Given the description of an element on the screen output the (x, y) to click on. 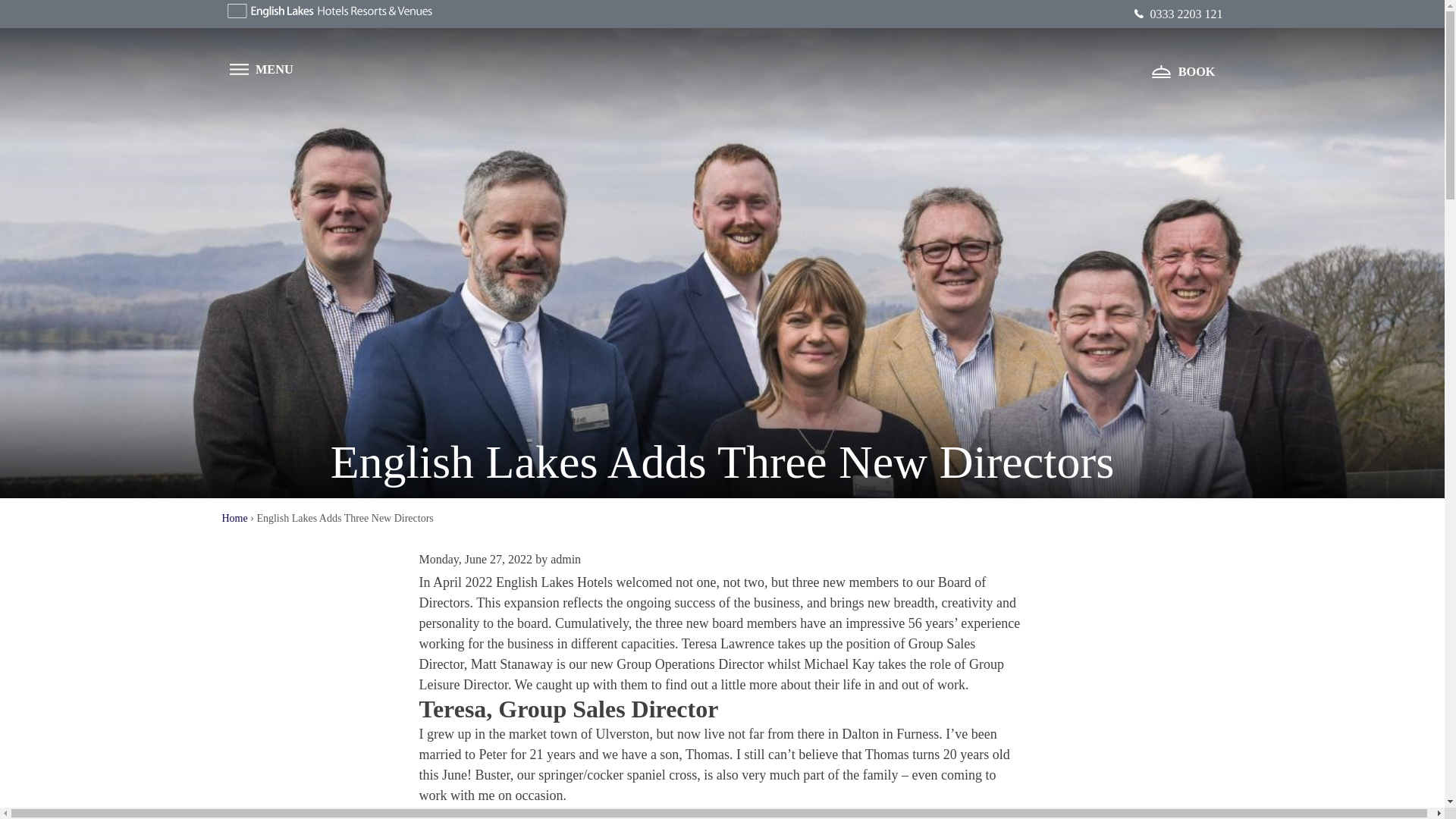
CLOSE ICON (435, 51)
AFTERNOON TEAS AT ENGLISH LAKES (716, 318)
English Lakes Booking Link (1183, 71)
ENGLISH LAKES BLOG (715, 390)
MENU ICON (237, 69)
HOTEL DEALS (716, 173)
HOME (717, 101)
BOOKING ICON (1160, 71)
MENU ICON MENU (260, 69)
English Lakes Contact Number (1178, 13)
Telephone Icon 0333 2203 121 (1178, 13)
English Lakes Navigation Toggle (260, 69)
CLOSE ICON CLOSE (454, 51)
BOOK (716, 498)
Telephone Icon (1138, 13)
